Given the description of an element on the screen output the (x, y) to click on. 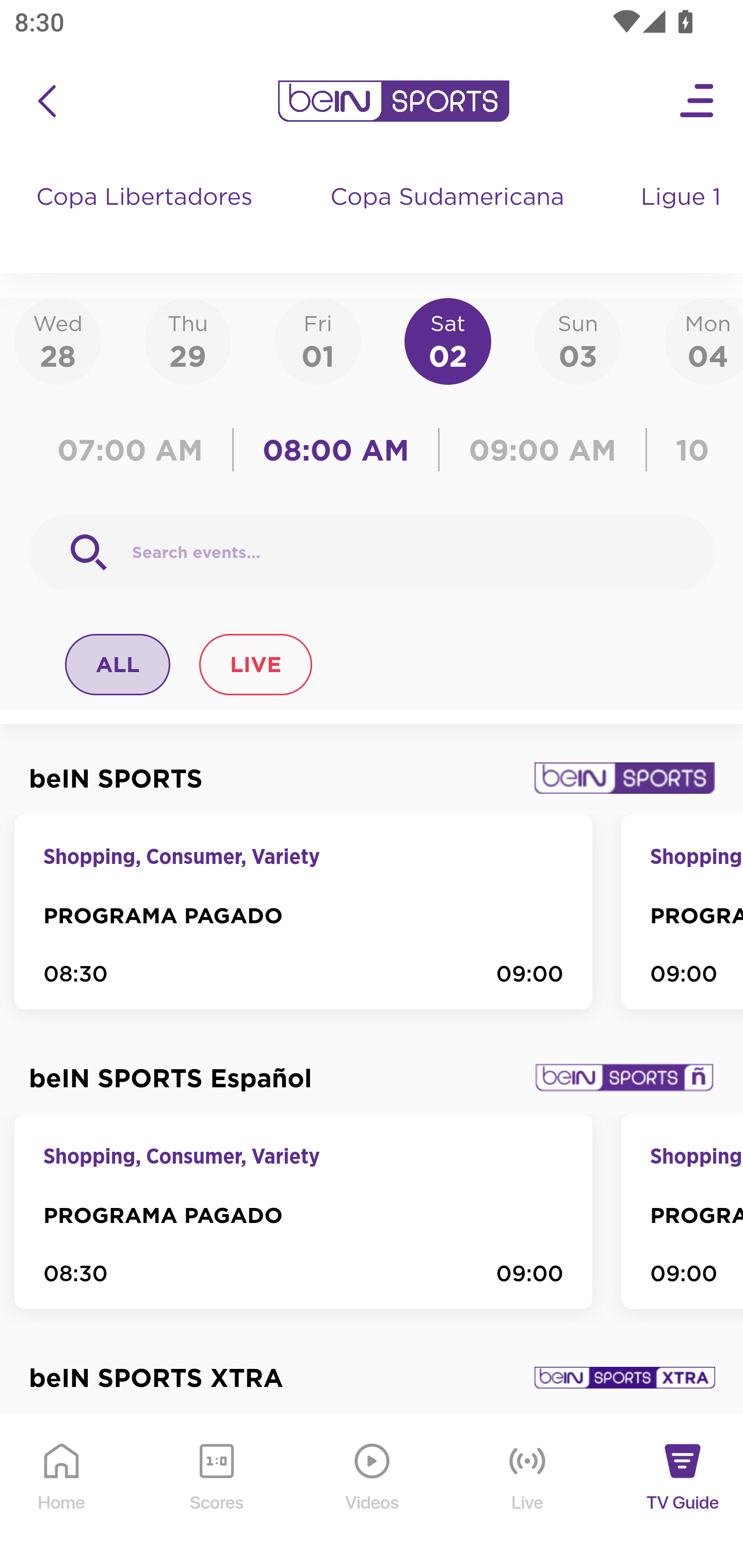
en-us?platform=mobile_android bein logo (392, 101)
icon back (46, 101)
Open Menu Icon (697, 101)
Copa Libertadores (146, 216)
Copa Sudamericana (448, 216)
Ligue 1 (682, 216)
Wed28 (58, 340)
Thu29 (187, 340)
Fri01 (318, 340)
Sat02 (447, 340)
Sun03 (578, 340)
Mon04 (703, 340)
07:00 AM (135, 449)
08:00 AM (336, 449)
09:00 AM (542, 449)
ALL (118, 663)
LIVE (255, 663)
Home Home Icon Home (61, 1491)
Scores Scores Icon Scores (216, 1491)
Videos Videos Icon Videos (372, 1491)
TV Guide TV Guide Icon TV Guide (682, 1491)
